Given the description of an element on the screen output the (x, y) to click on. 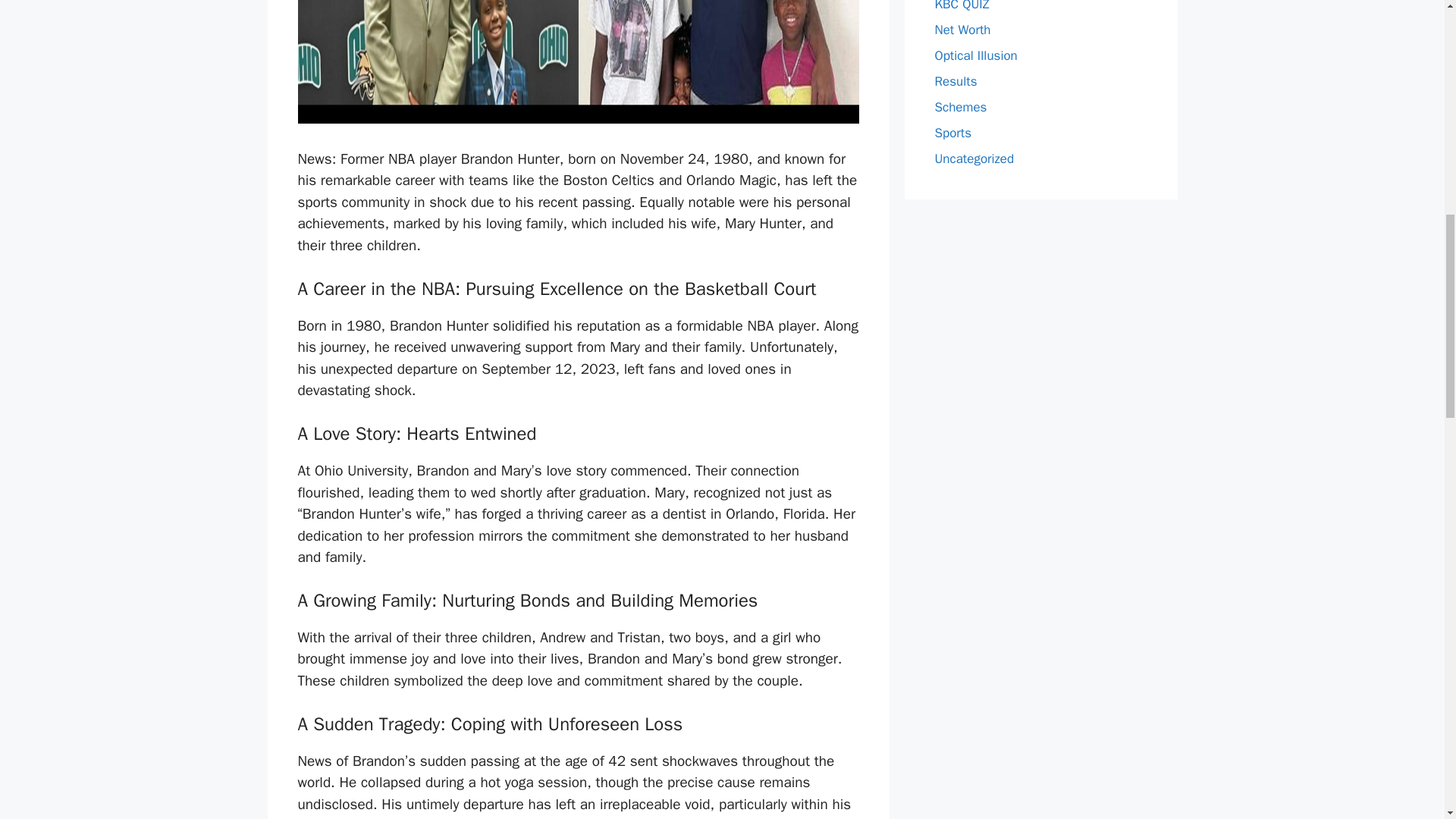
Net Worth (962, 29)
KBC QUIZ (961, 6)
